Given the description of an element on the screen output the (x, y) to click on. 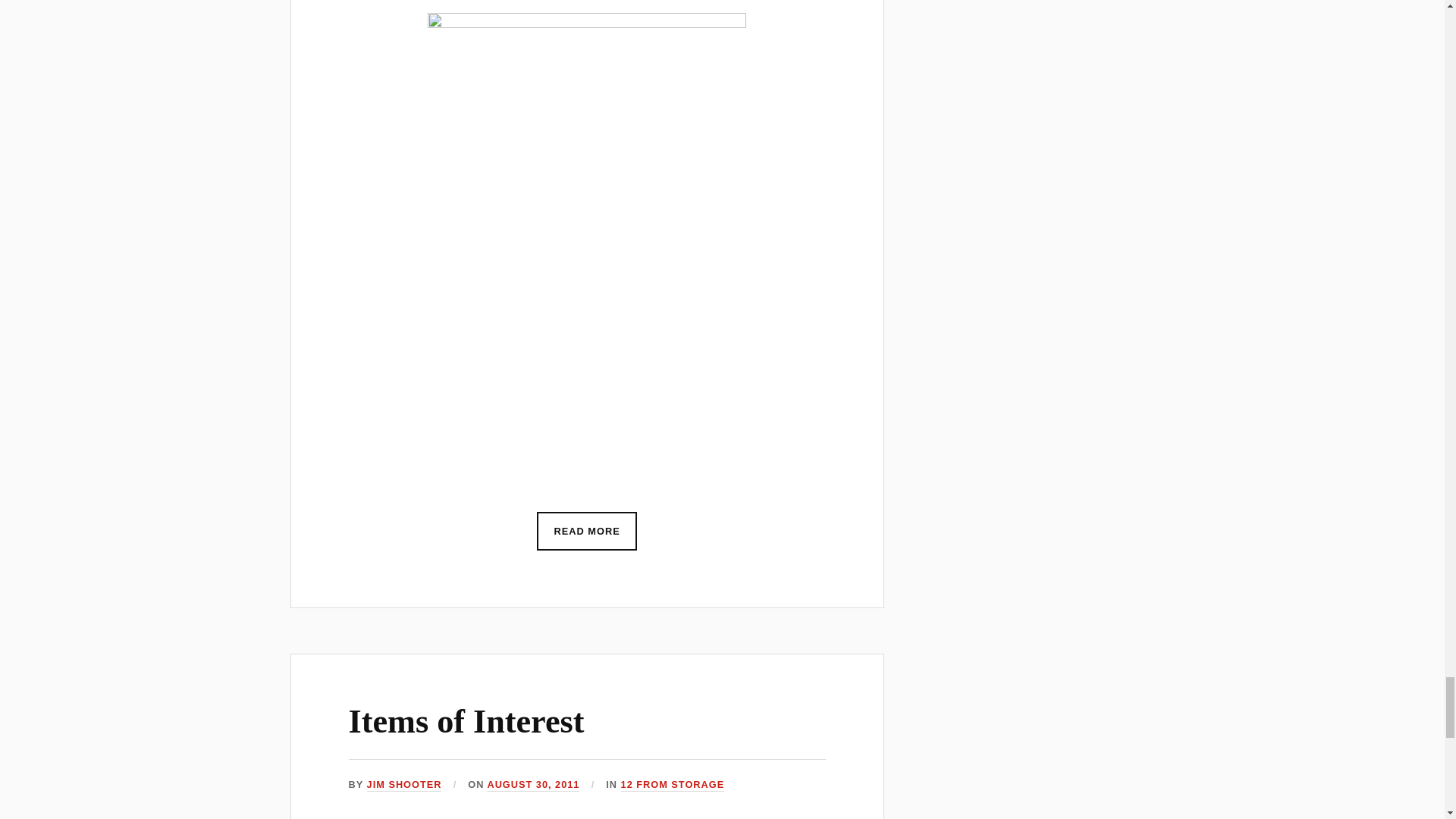
Posts by Jim Shooter (404, 784)
